Given the description of an element on the screen output the (x, y) to click on. 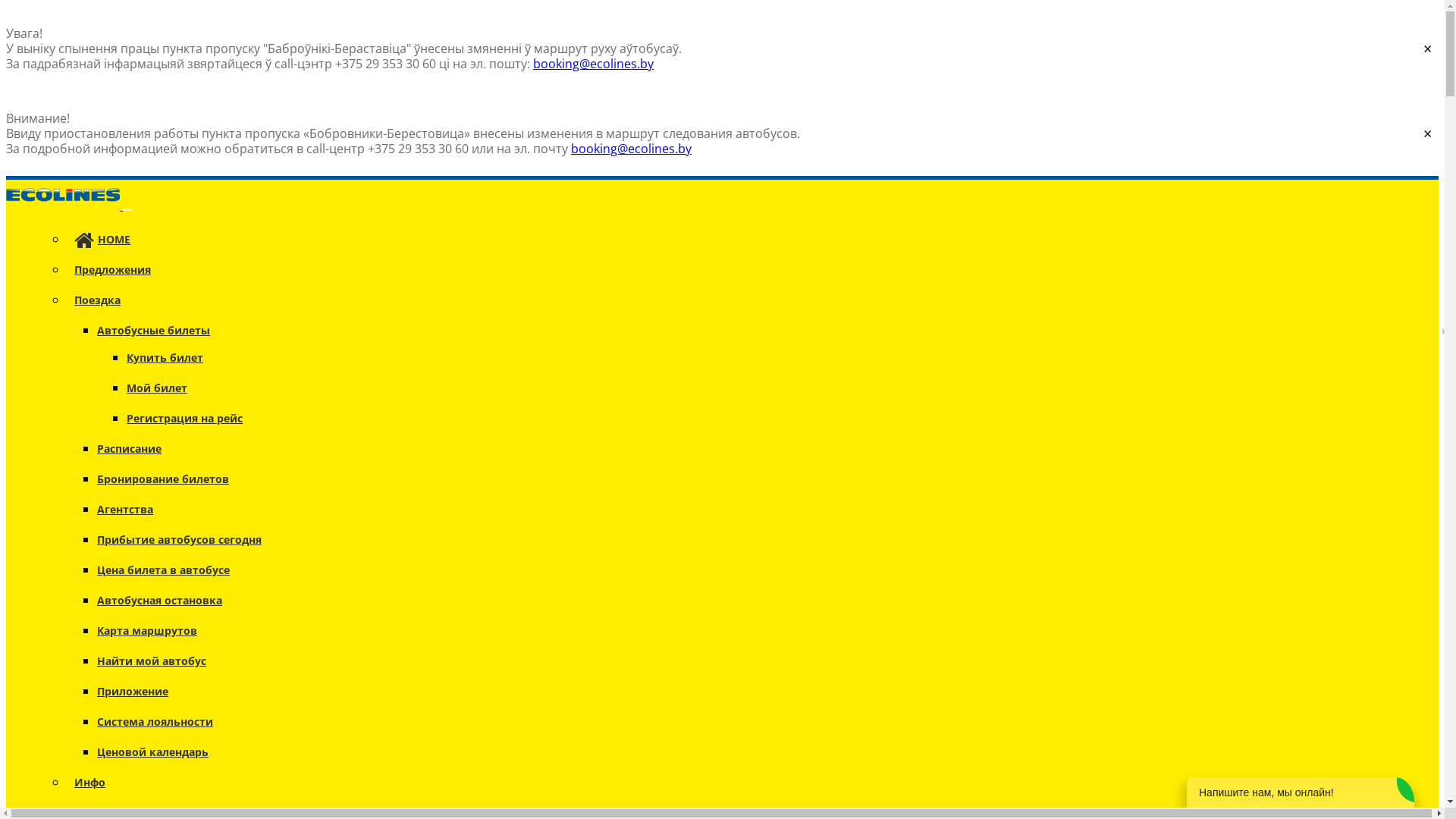
booking@ecolines.by Element type: text (631, 148)
booking@ecolines.by Element type: text (593, 63)
Home Element type: hover (64, 205)
Skip to main content Element type: text (65, 6)
HOME Element type: text (102, 239)
